Given the description of an element on the screen output the (x, y) to click on. 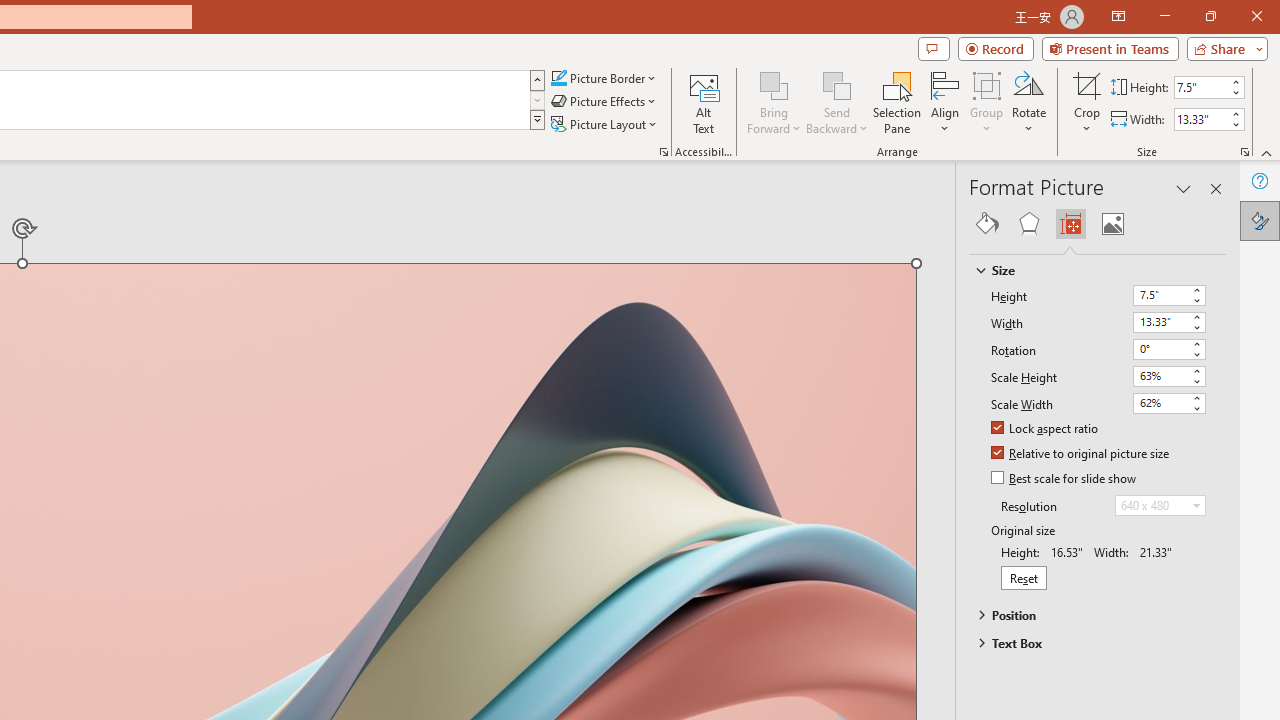
Align (945, 102)
Height (1160, 294)
Size & Properties (1070, 223)
Class: NetUIGalleryContainer (1098, 223)
Bring Forward (773, 102)
Picture... (663, 151)
